Given the description of an element on the screen output the (x, y) to click on. 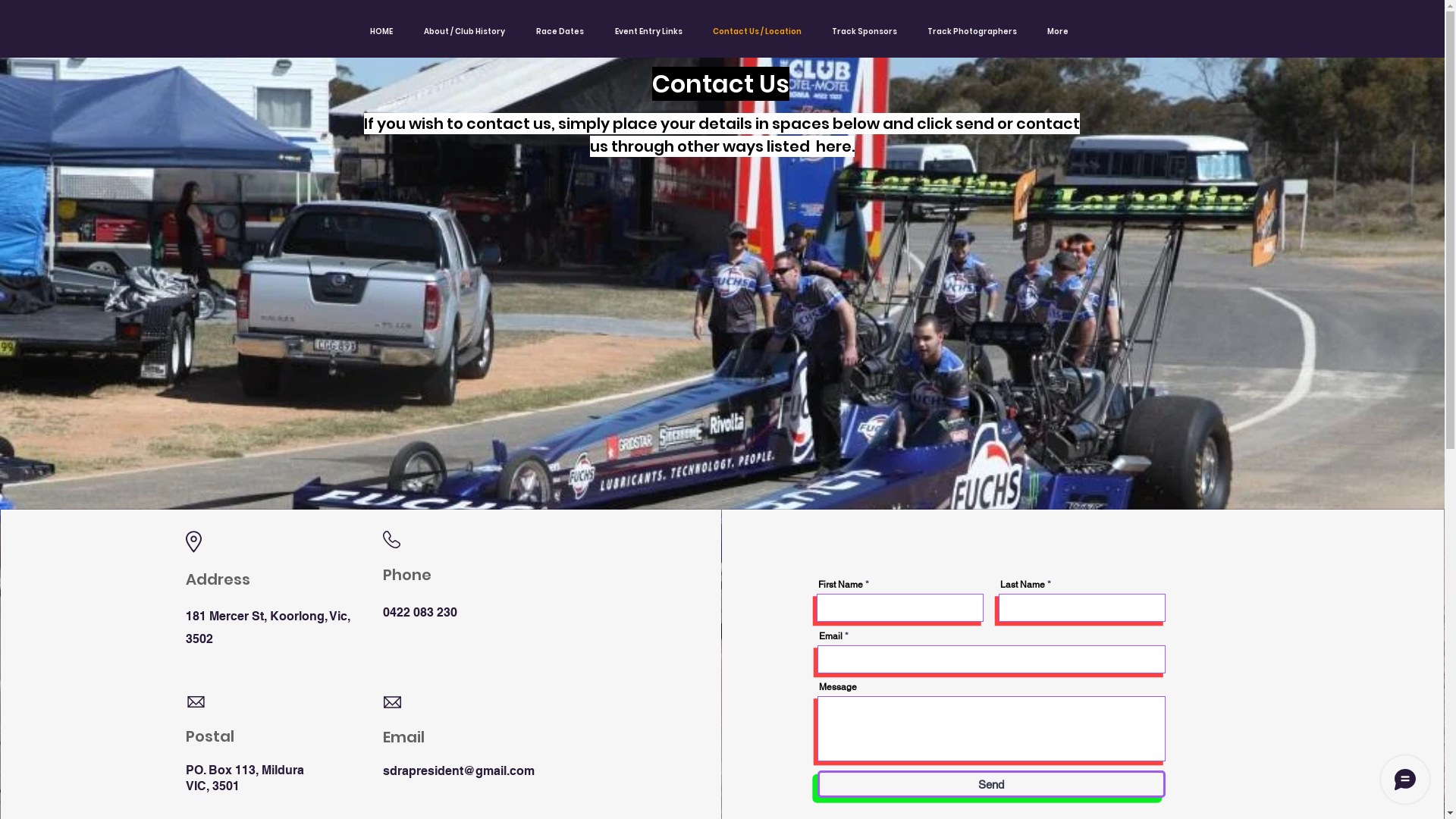
About / Club History Element type: text (463, 31)
Race Dates Element type: text (559, 31)
Send Element type: text (991, 783)
Event Entry Links Element type: text (647, 31)
PO. Box 113, Mildura Element type: text (244, 769)
sdrapresident@gmail.com Element type: text (458, 770)
HOME Element type: text (380, 31)
Track Photographers Element type: text (972, 31)
Contact Us / Location Element type: text (756, 31)
Track Sponsors Element type: text (864, 31)
